Given the description of an element on the screen output the (x, y) to click on. 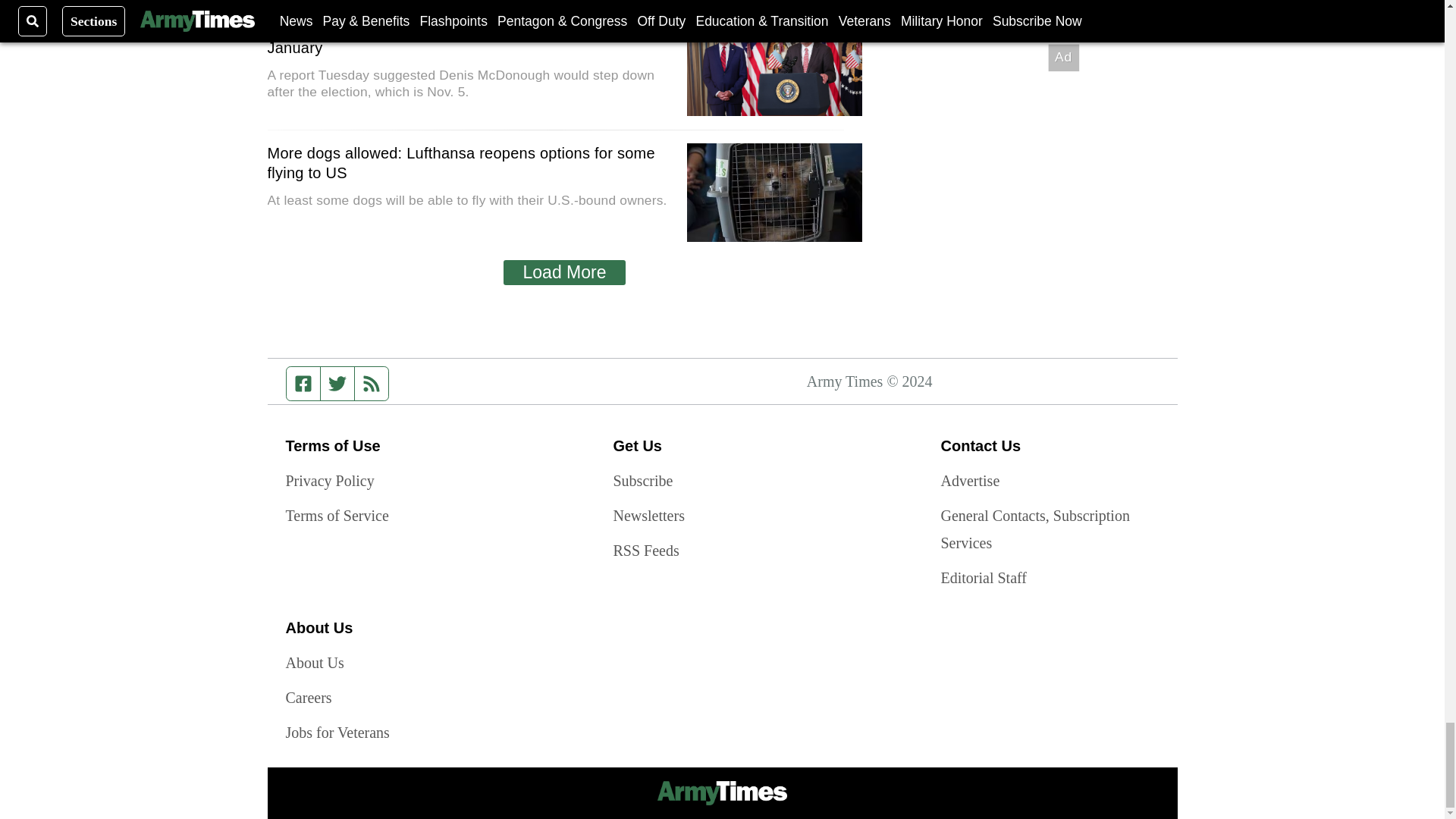
Twitter feed (336, 383)
Facebook page (303, 383)
RSS feed (371, 383)
